Given the description of an element on the screen output the (x, y) to click on. 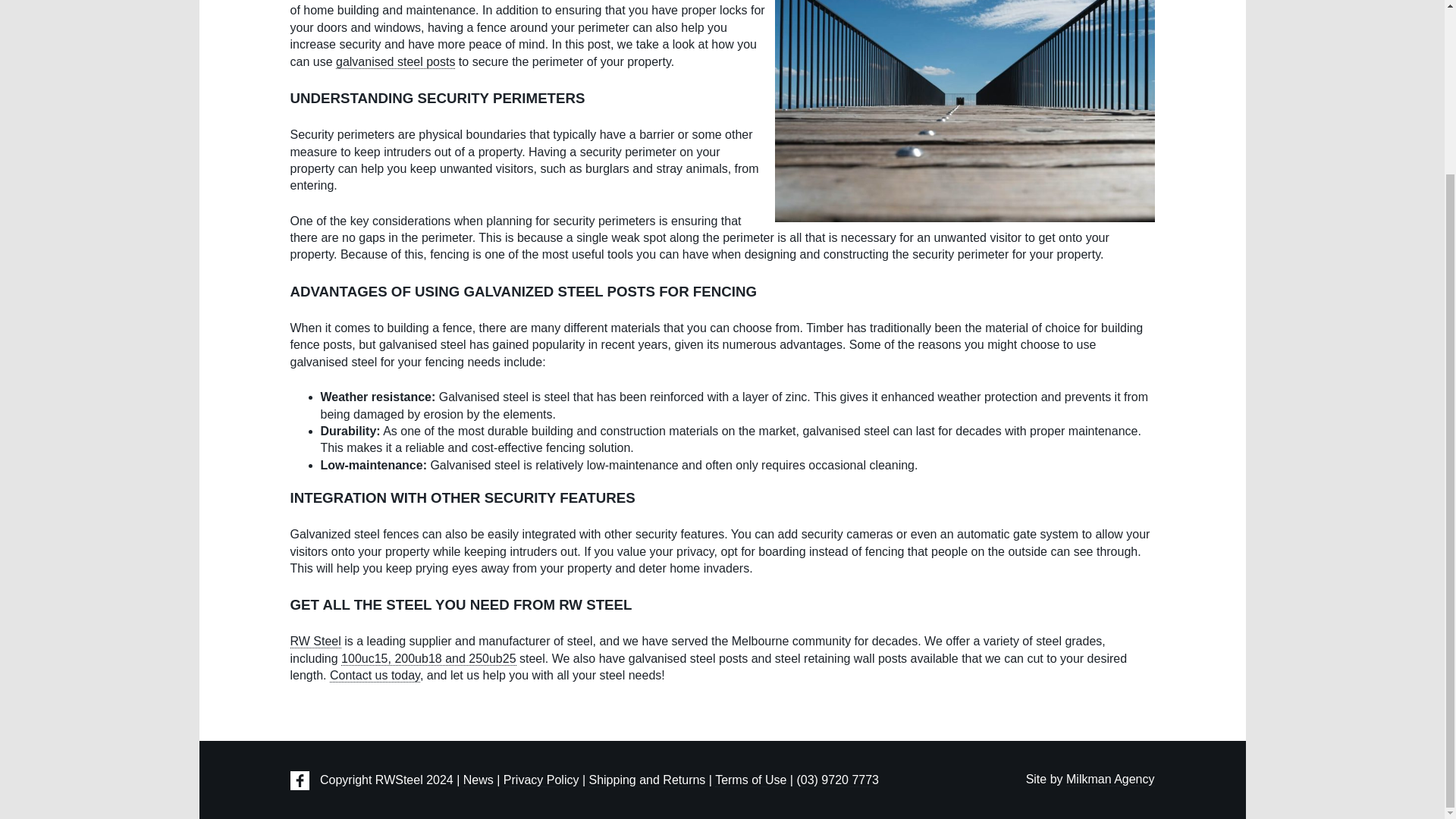
Facebook (298, 780)
RW Steel (314, 641)
Milkman Agency (1109, 779)
News (478, 780)
100uc15, 200ub18 and 250ub25 (427, 658)
galvanised steel posts (395, 61)
Privacy Policy (541, 780)
Contact us today (375, 675)
Shipping and Returns (646, 780)
Terms of Use (750, 780)
